Given the description of an element on the screen output the (x, y) to click on. 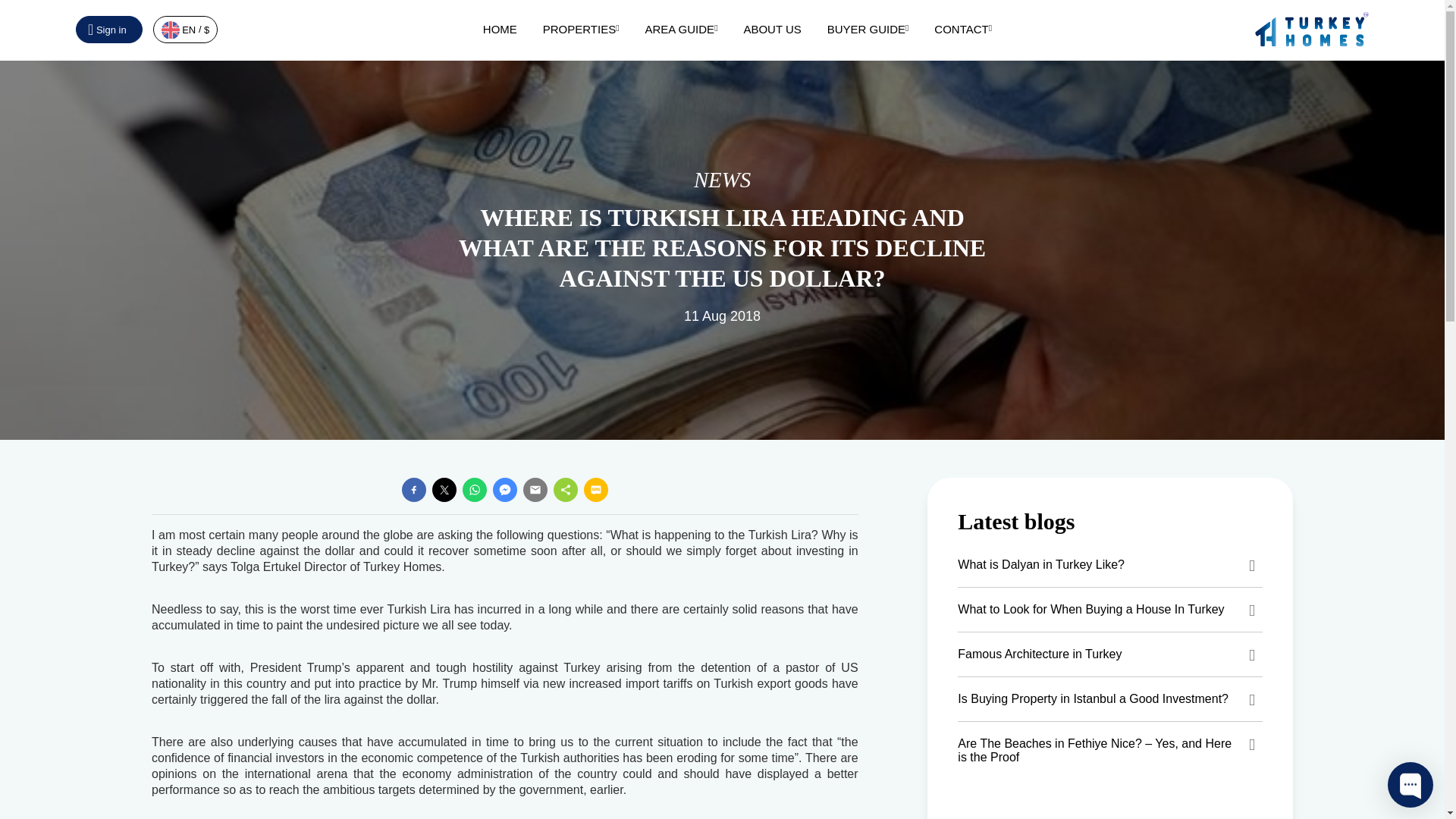
are-the-beaches-in-fethiye-nice-yes-and-here-is-the-proof (1110, 750)
PROPERTIES (581, 28)
is-buying-property-in-istanbul-a-good-investment (1110, 699)
BUYER GUIDE (867, 28)
what-to-look-for-when-buying-a-house-in-turkey (1110, 609)
HOME (499, 28)
famous-architecture-in-turkey (1110, 654)
what-is-dalyan-in-turkey-like (1110, 564)
ABOUT US (771, 28)
Sign in (108, 29)
AREA GUIDE (681, 28)
